Given the description of an element on the screen output the (x, y) to click on. 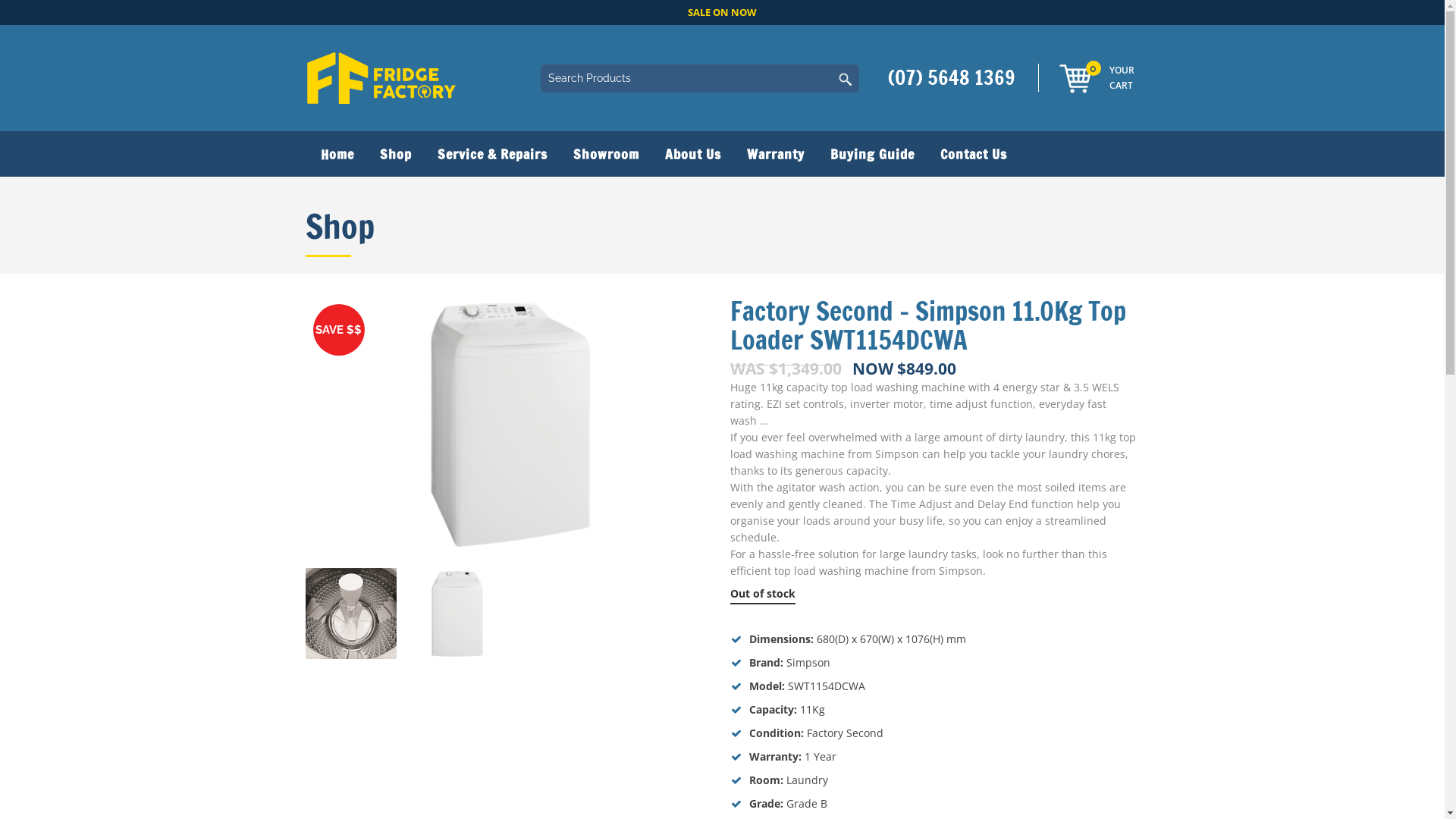
Simpson Element type: text (807, 662)
0 Element type: text (1074, 78)
Laundry Element type: text (806, 779)
Shop Element type: text (395, 153)
Contact Us Element type: text (972, 153)
SALE ON NOW Element type: text (721, 11)
Home Element type: text (335, 153)
Grade B Element type: text (805, 803)
SWT8043-27857.BE-ProductCarousel Element type: hover (509, 424)
Buying Guide Element type: text (872, 153)
Warranty Element type: text (775, 153)
SWT8043-27858.BE-ProductCarousel Element type: hover (456, 612)
(07) 5648 1369 Element type: text (955, 77)
SWT1154DCWA Element type: text (825, 685)
SWT8043-27882.BE-ProductCarousel Element type: hover (349, 612)
About Us Element type: text (693, 153)
Service & Repairs Element type: text (492, 153)
Showroom Element type: text (605, 153)
Factory Second Element type: text (844, 732)
